Given the description of an element on the screen output the (x, y) to click on. 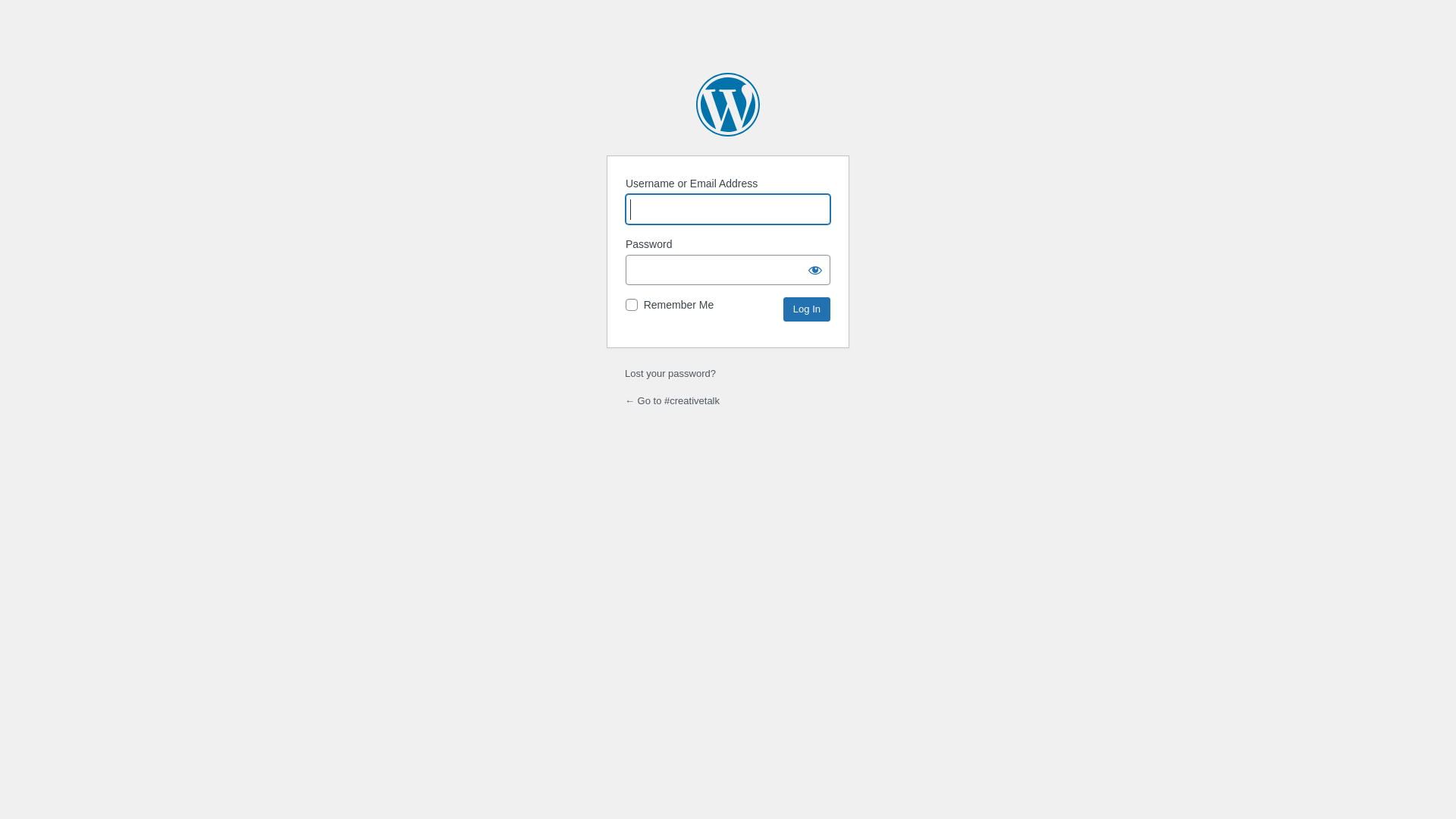
Powered by WordPress Element type: text (727, 104)
Log In Element type: text (806, 309)
Lost your password? Element type: text (669, 373)
